Given the description of an element on the screen output the (x, y) to click on. 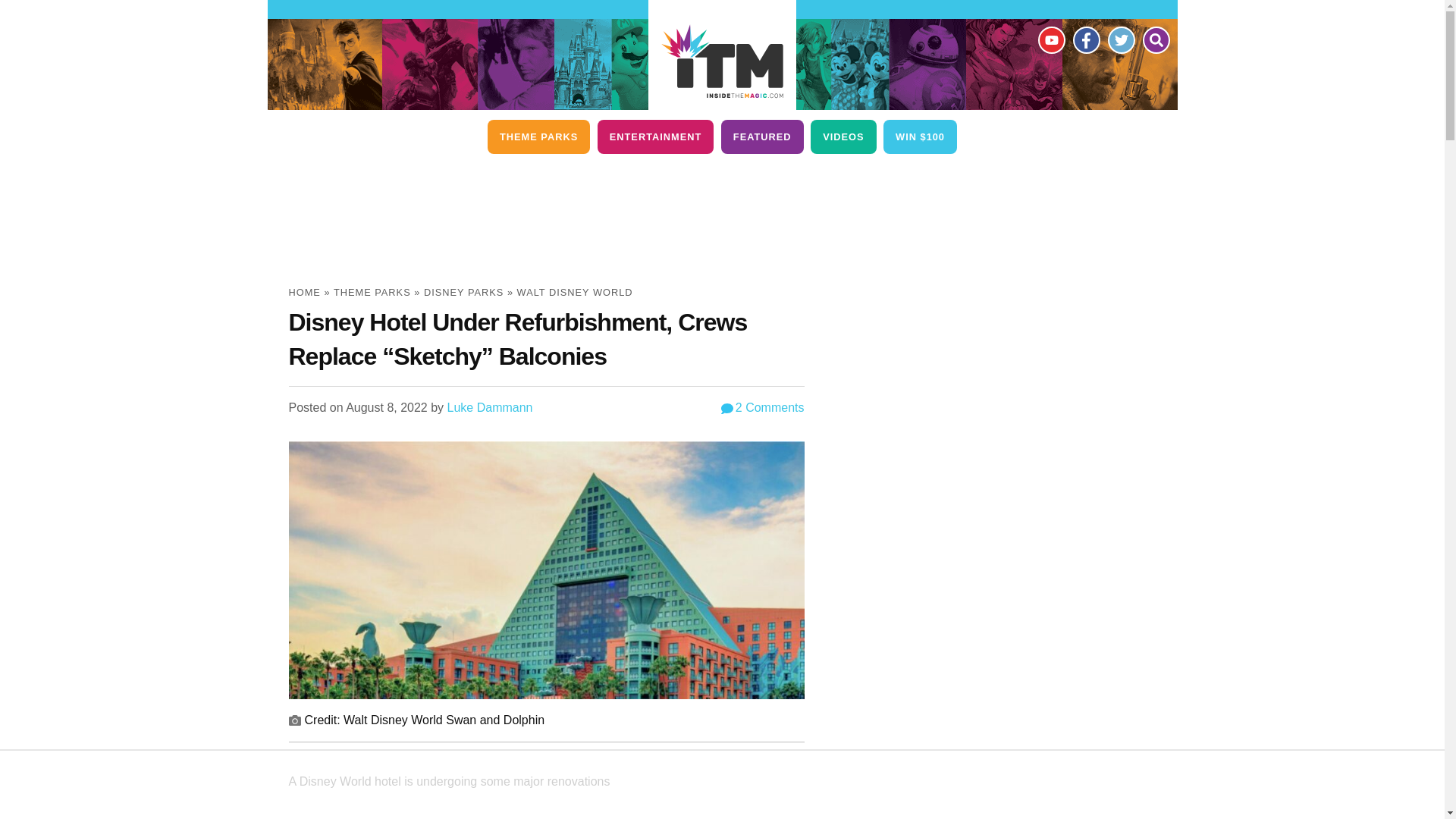
THEME PARKS (538, 136)
YouTube (1050, 40)
FEATURED (761, 136)
Twitter (1120, 40)
Facebook (1085, 40)
Search (1155, 40)
ENTERTAINMENT (655, 136)
